Given the description of an element on the screen output the (x, y) to click on. 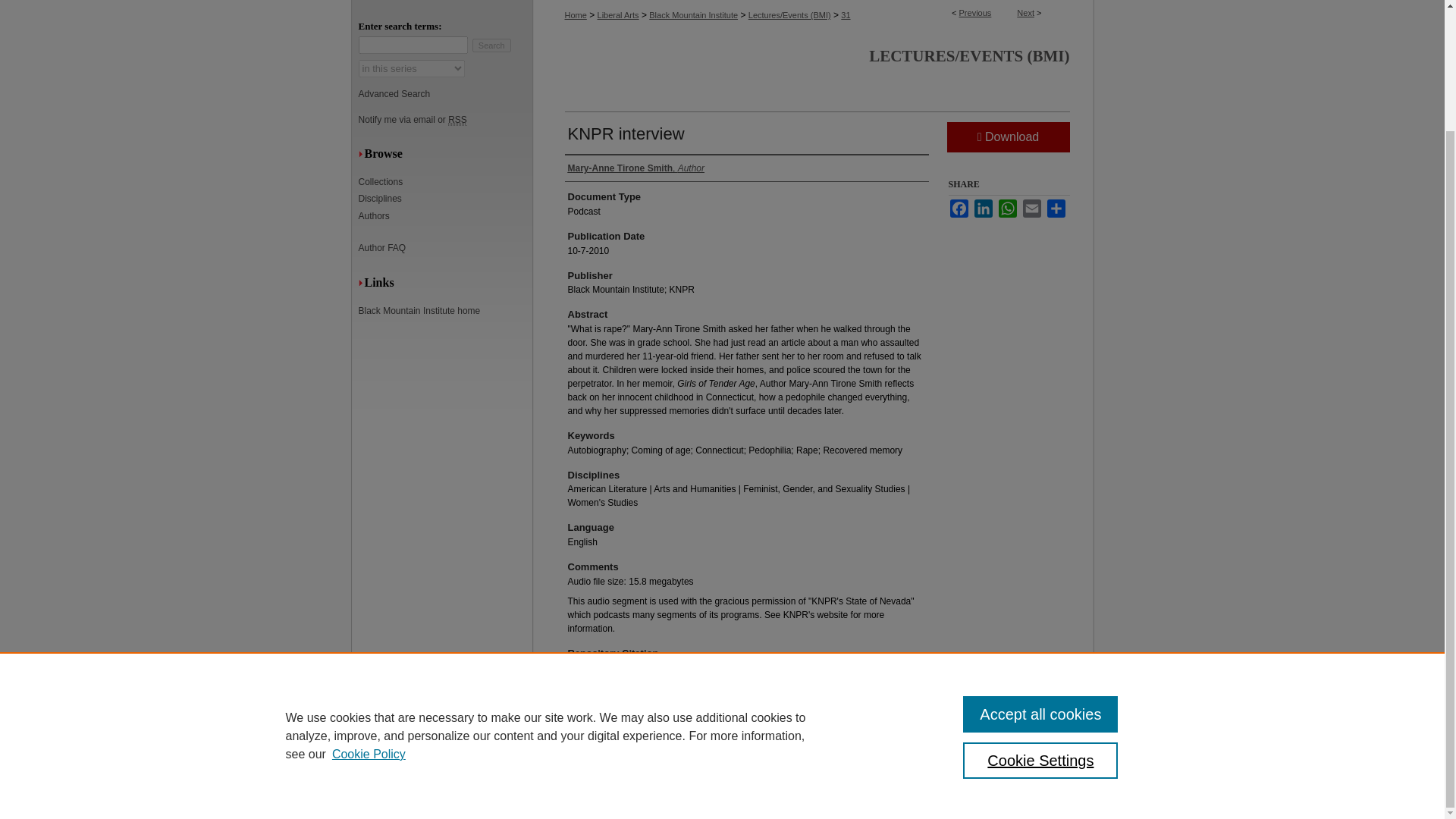
Browse by Collections (445, 181)
Browse by Disciplines (445, 198)
KNPR interview (625, 133)
Really Simple Syndication (457, 120)
Share (1055, 208)
Liberal Arts (617, 14)
Black Mountain Institute (693, 14)
Search (491, 45)
Advanced Search (393, 93)
31 (845, 14)
LinkedIn (982, 208)
Download (1007, 137)
Email or RSS Notifications (445, 119)
WhatsApp (1006, 208)
